Given the description of an element on the screen output the (x, y) to click on. 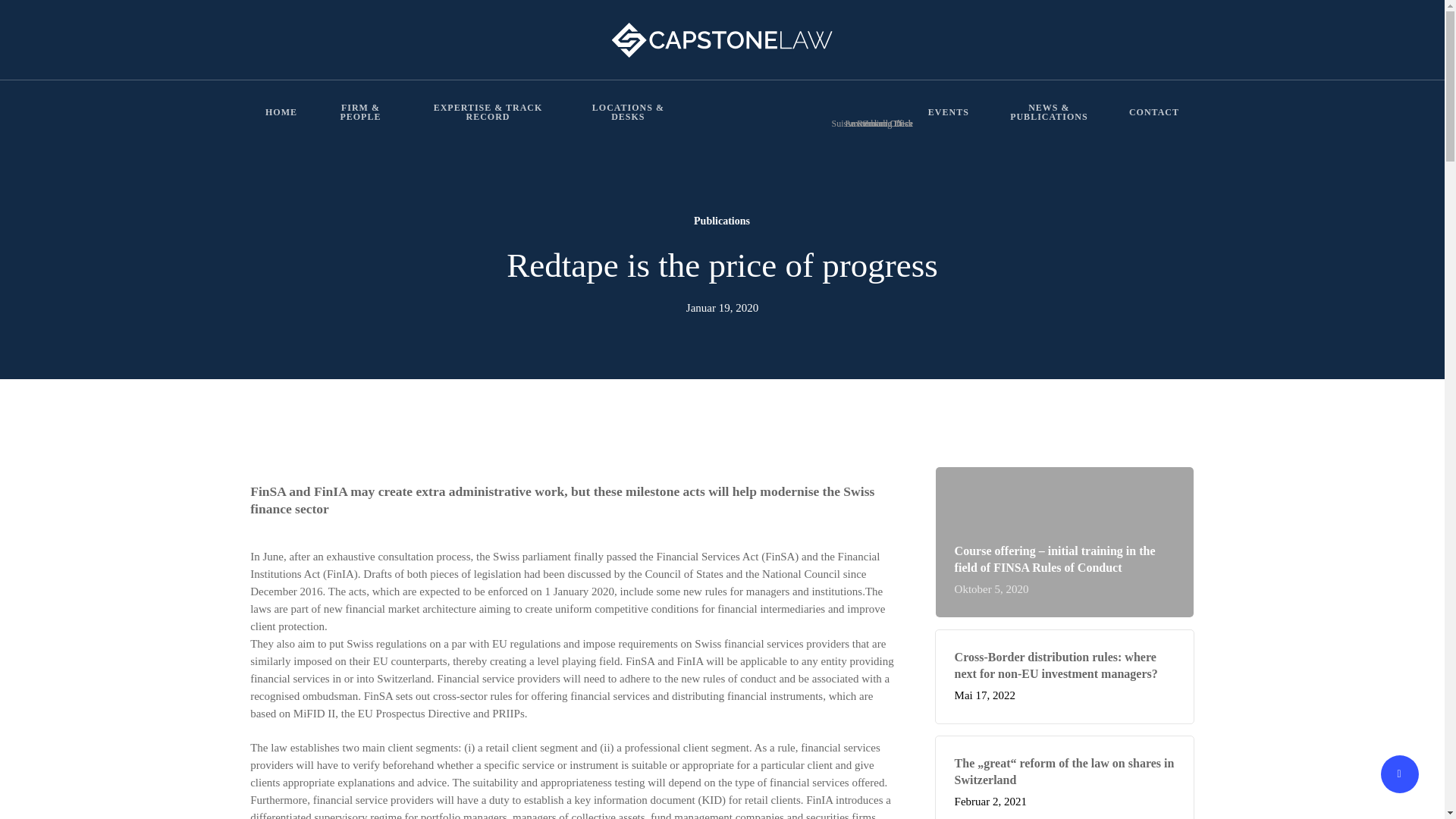
HOME (280, 112)
CONTACT (1154, 112)
EVENTS (948, 112)
Publications (721, 220)
